Given the description of an element on the screen output the (x, y) to click on. 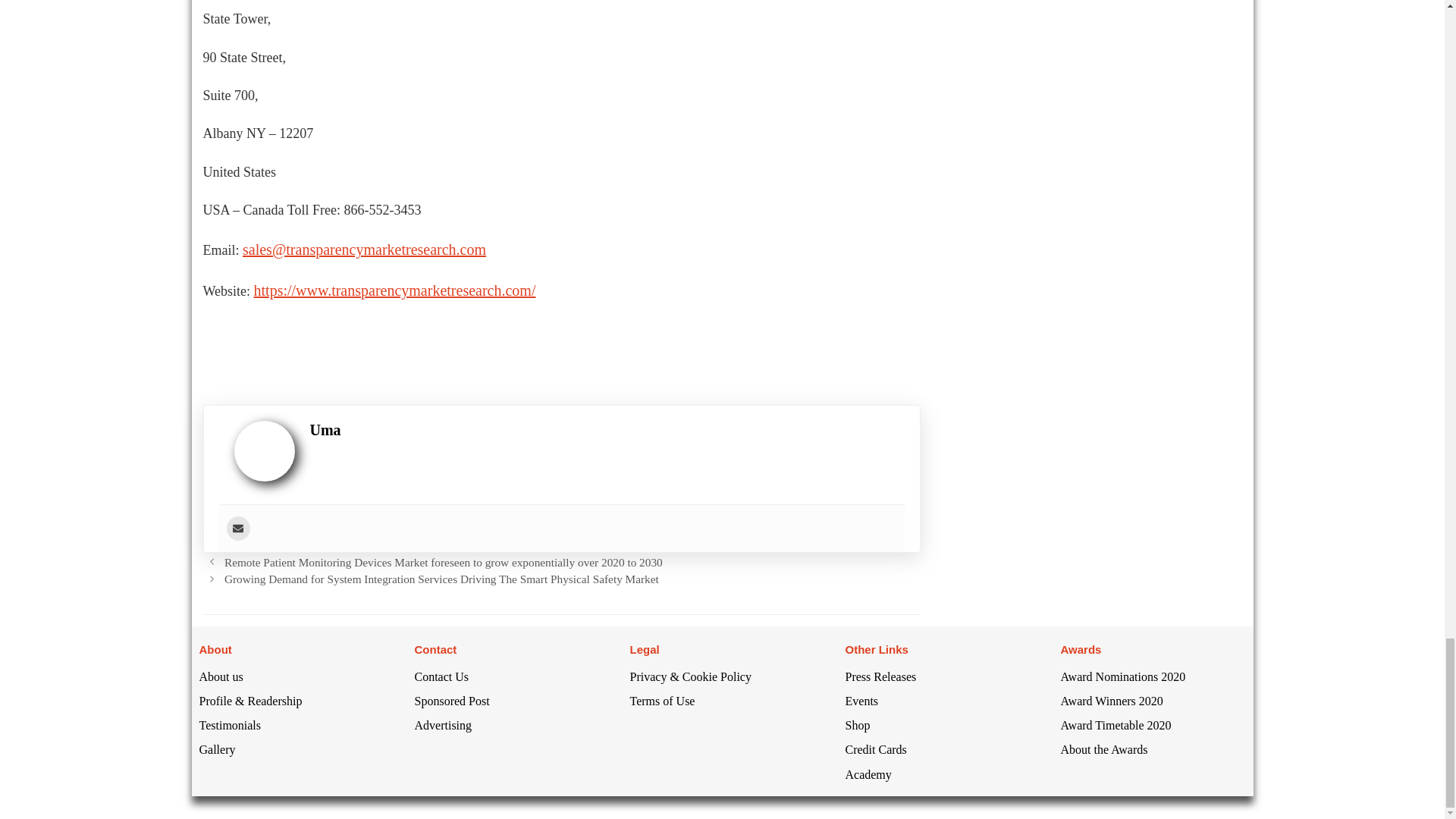
User email (236, 528)
Share on Twitter (261, 342)
Share on Reddit (426, 342)
Share on Pinterest (343, 342)
Share on Linkedin (301, 342)
Share on Xing (384, 342)
Share on Facebook (220, 342)
Uma (324, 429)
